Given the description of an element on the screen output the (x, y) to click on. 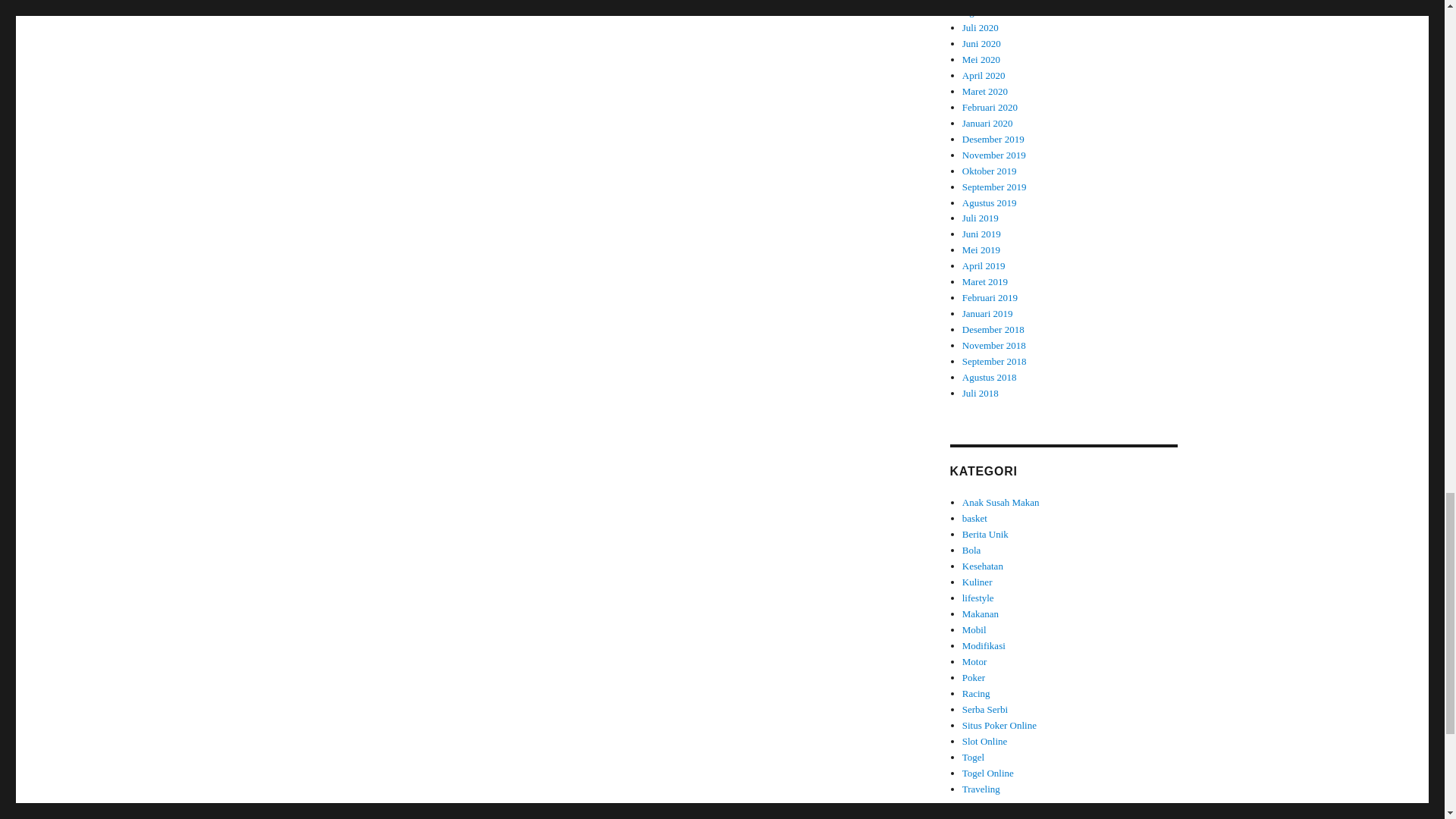
DMCA.com Protection Status (585, 16)
